Given the description of an element on the screen output the (x, y) to click on. 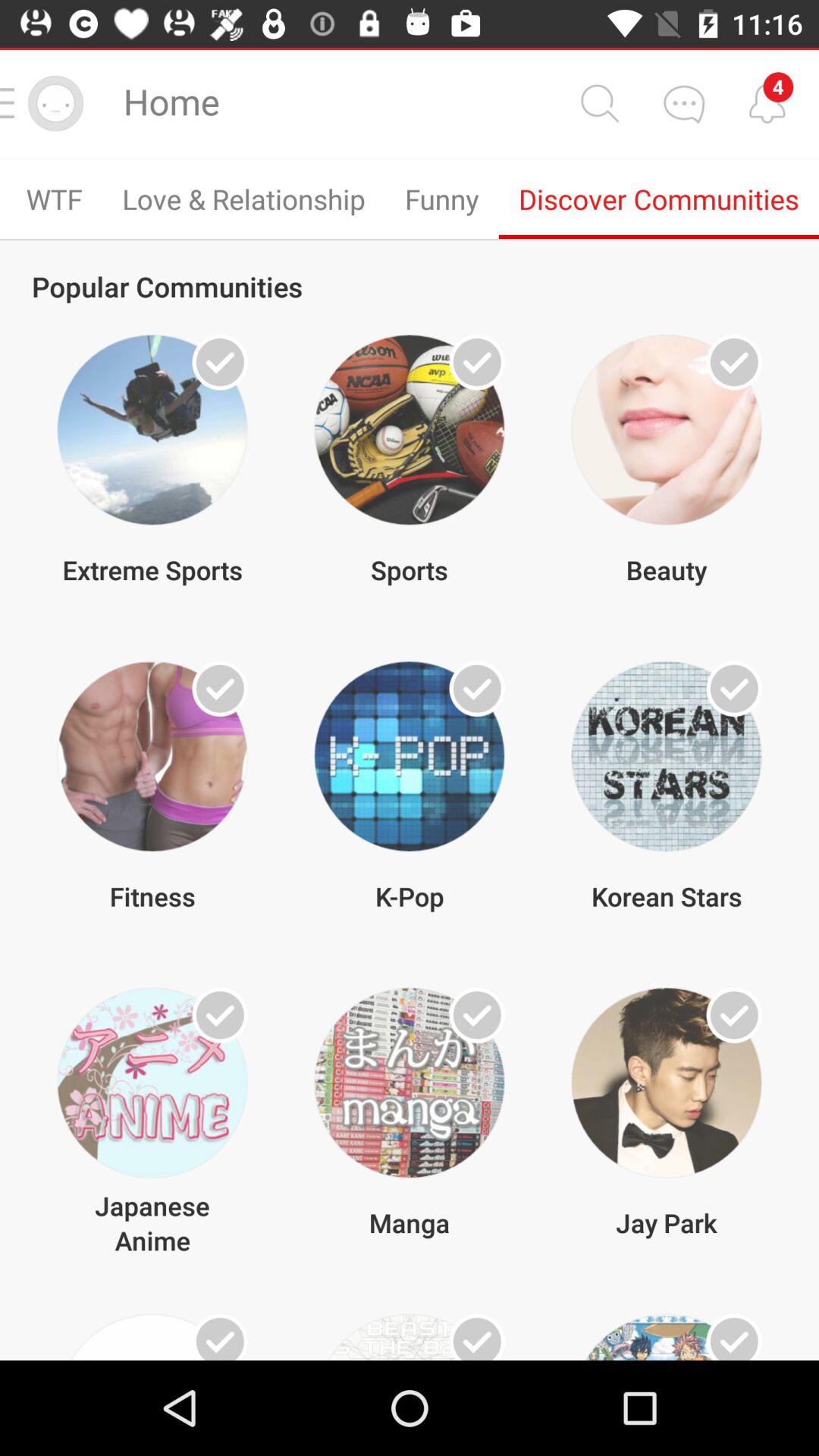
select community (734, 1336)
